Given the description of an element on the screen output the (x, y) to click on. 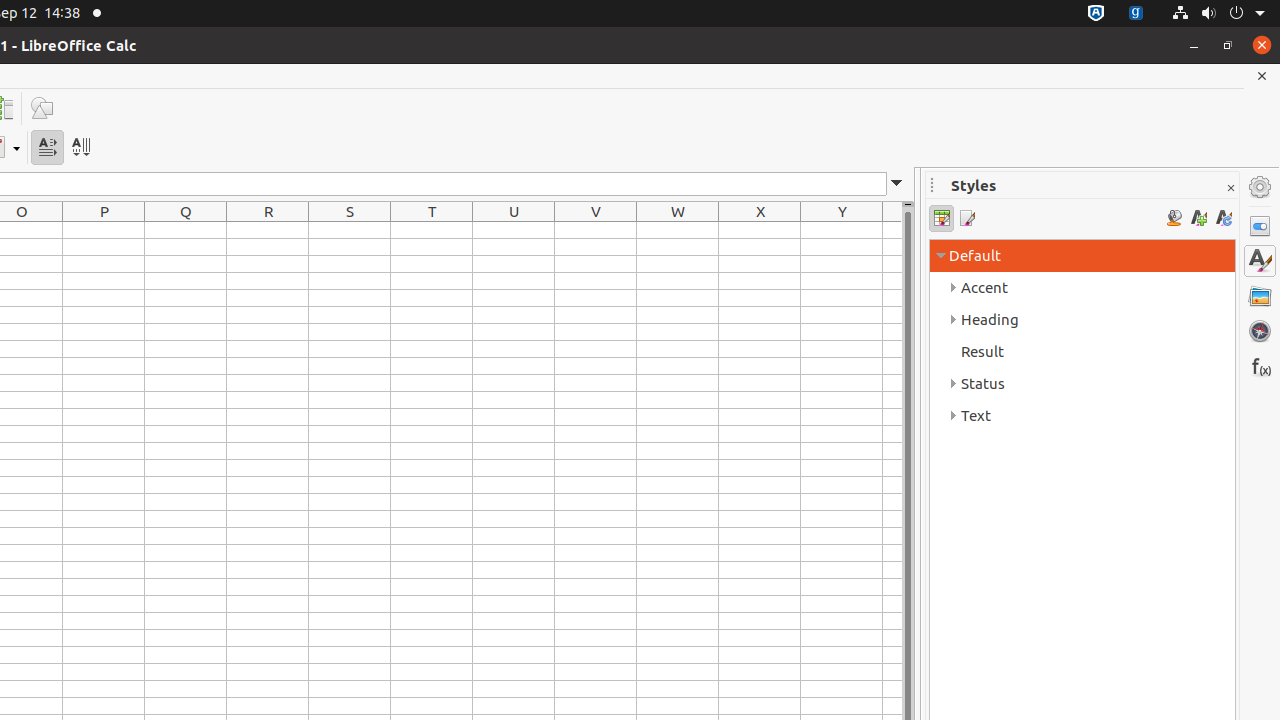
New Style from Selection Element type: push-button (1198, 218)
Styles Element type: radio-button (1260, 261)
R1 Element type: table-cell (268, 230)
Properties Element type: radio-button (1260, 226)
V1 Element type: table-cell (596, 230)
